Given the description of an element on the screen output the (x, y) to click on. 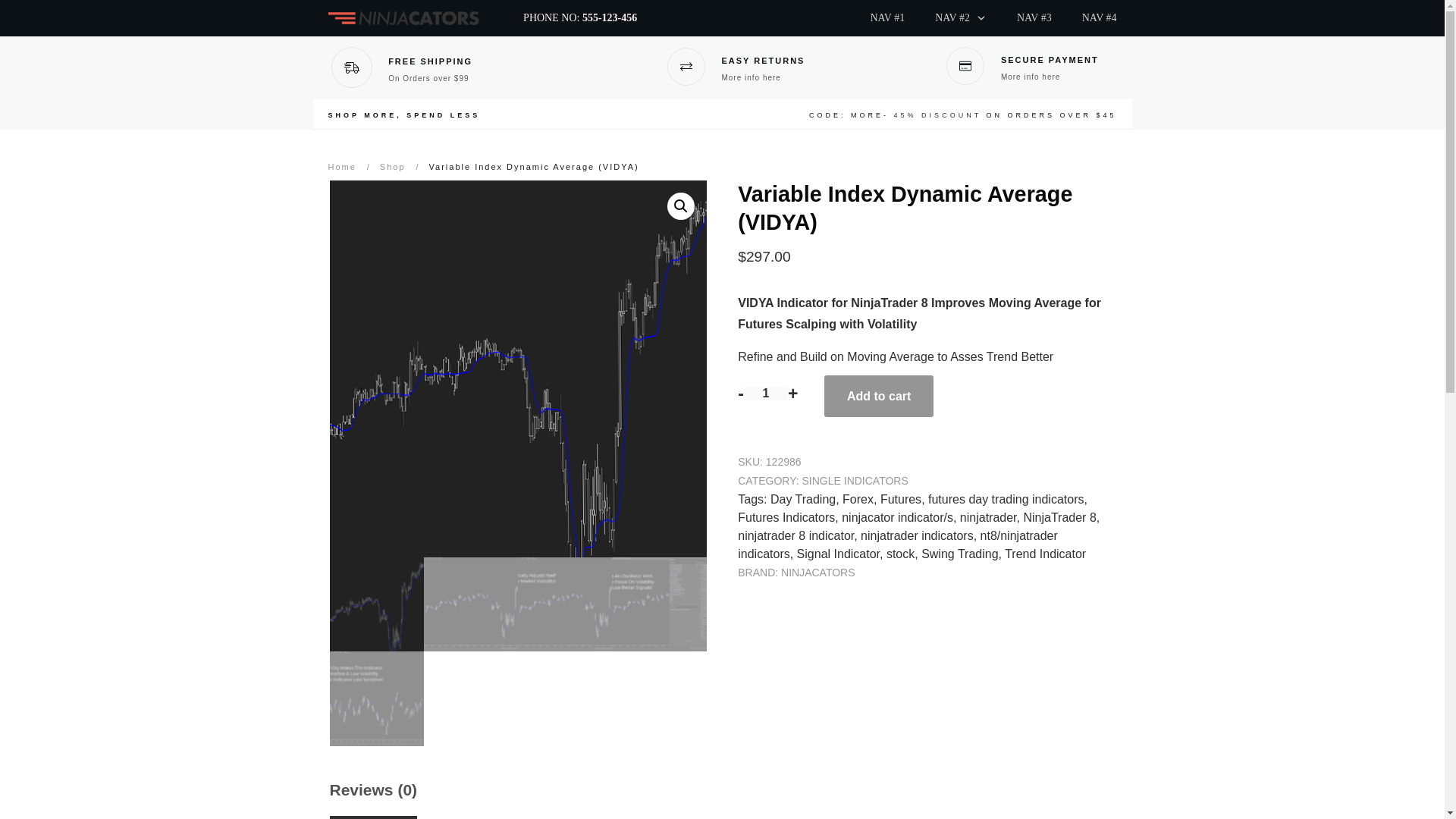
NINJACATORS (818, 572)
ninjatrader 8 indicator (795, 535)
Futures Indicators (786, 517)
Futures (900, 499)
More info here (750, 77)
Forex (858, 499)
futures day trading indicators (1005, 499)
NinjaTrader 8 (1059, 517)
Trend Indicator (1045, 553)
ninjatrader (987, 517)
Add to cart (878, 395)
1 (765, 393)
Day Trading (802, 499)
More info here (1030, 76)
Signal Indicator (837, 553)
